Given the description of an element on the screen output the (x, y) to click on. 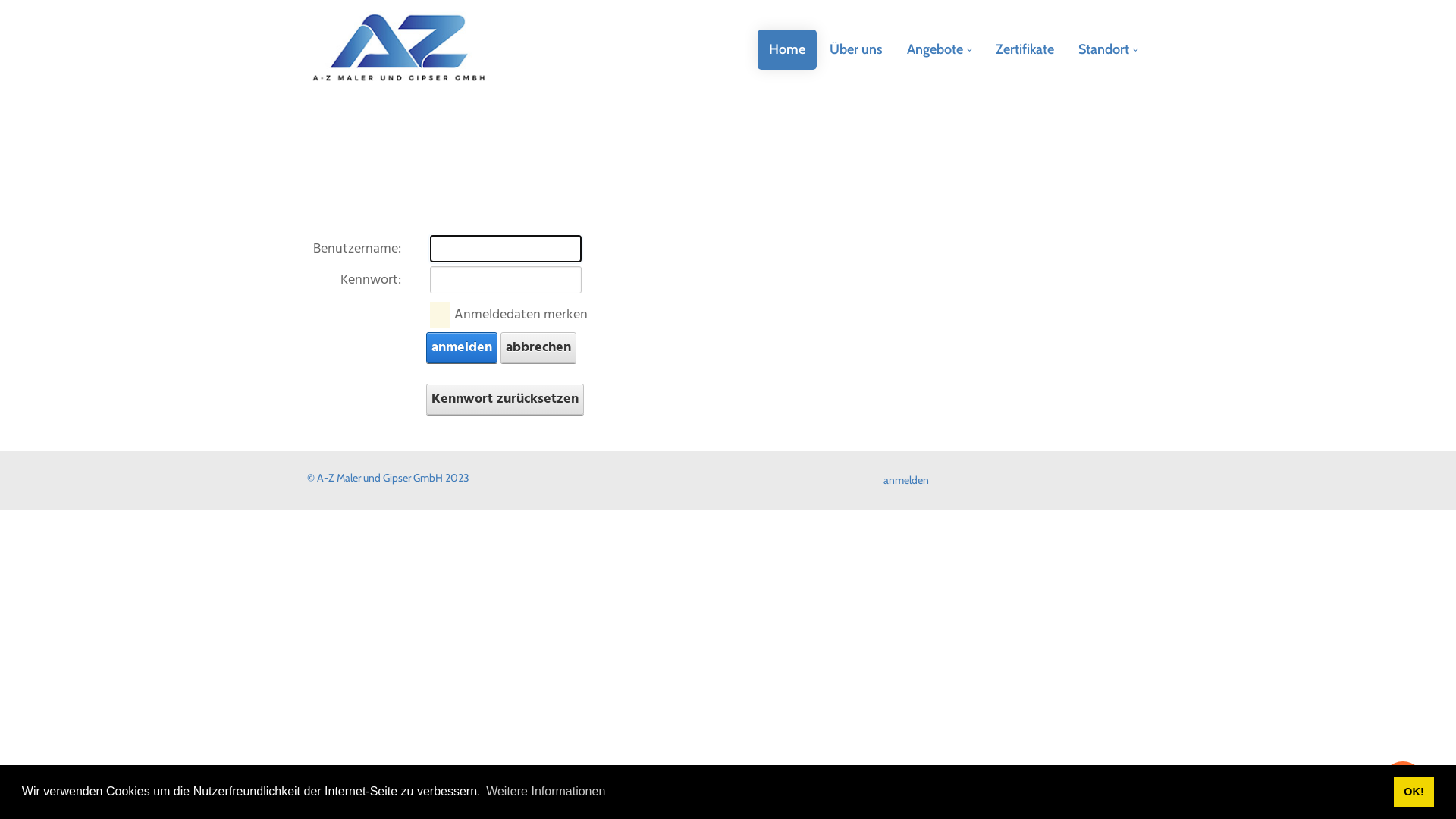
Home Element type: text (786, 48)
OK! Element type: text (1413, 791)
Zertifikate Element type: text (1024, 48)
Standort Element type: text (1107, 48)
anmelden Element type: text (905, 479)
abbrechen Element type: text (538, 347)
Angebote Element type: text (938, 48)
www.a-zmalerundgipser.ch Element type: hover (398, 48)
Weitere Informationen Element type: text (545, 791)
anmelden Element type: text (461, 347)
